Given the description of an element on the screen output the (x, y) to click on. 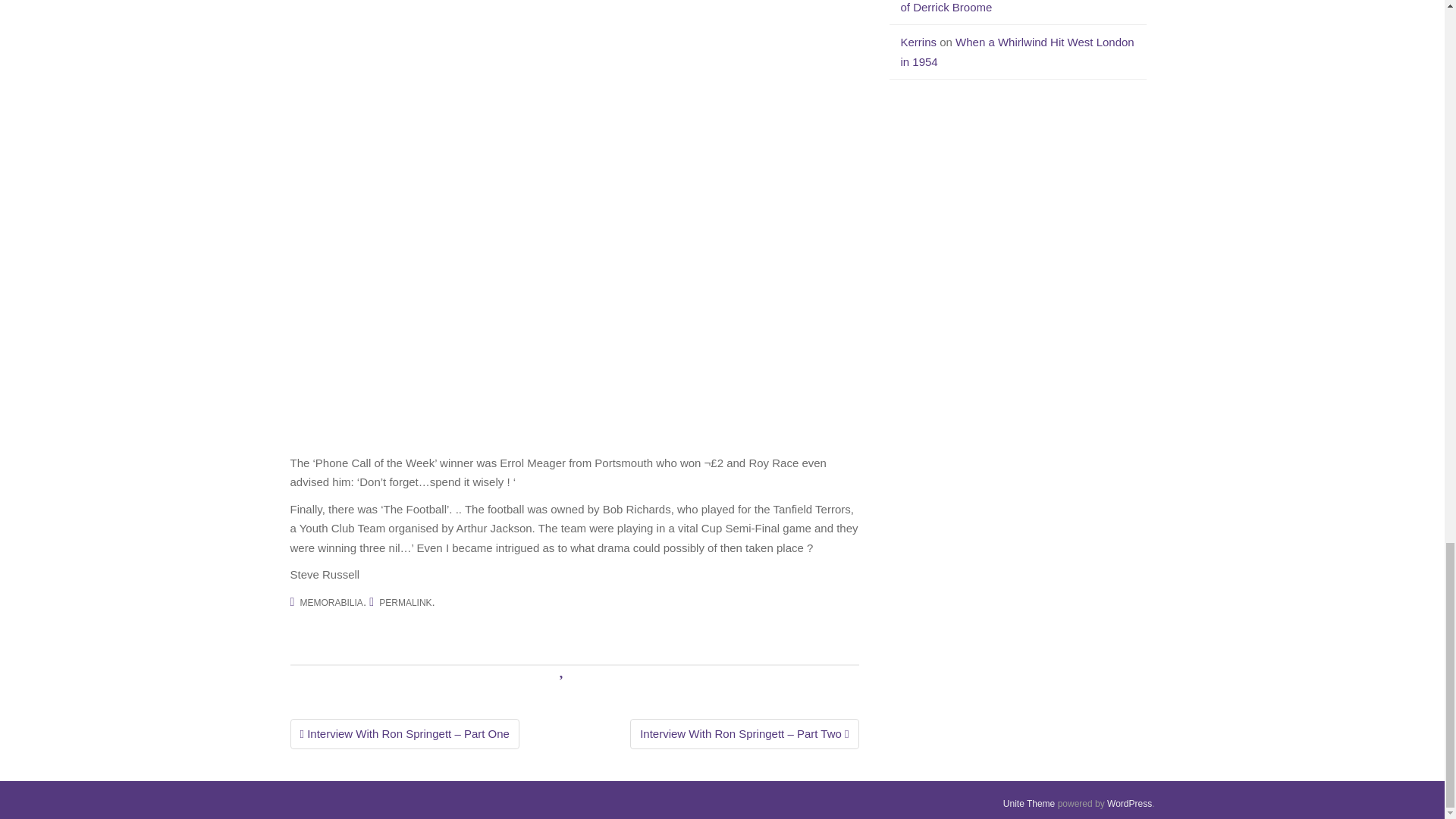
Kerrins (919, 42)
Unite Theme (1028, 803)
PERMALINK (404, 602)
WordPress (1128, 803)
Unite Theme (1028, 803)
MEMORABILIA (330, 602)
WordPress (1128, 803)
In Memory of Derrick Broome (1012, 6)
When a Whirlwind Hit West London in 1954  (1017, 51)
